Given the description of an element on the screen output the (x, y) to click on. 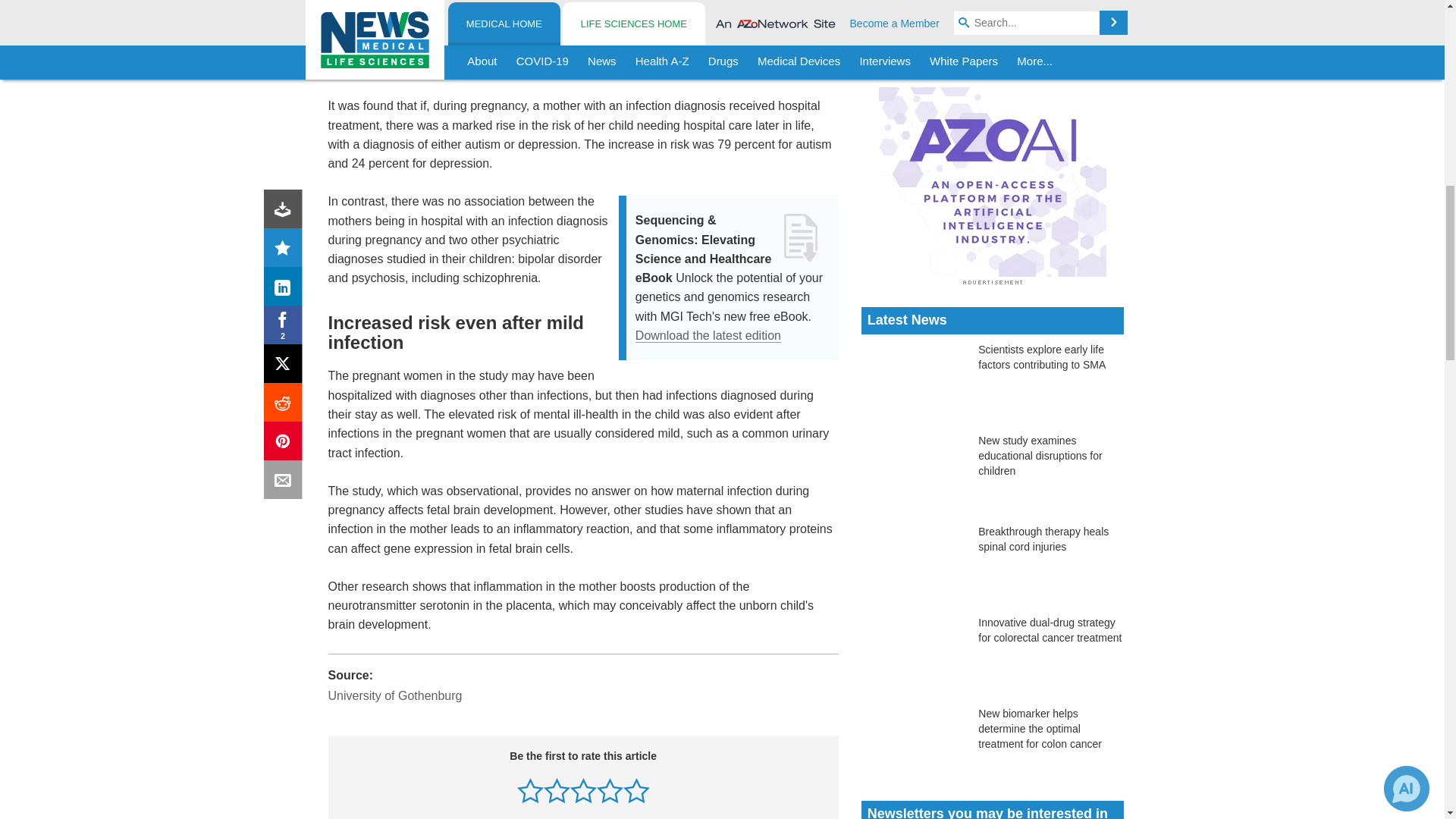
Rate this 5 stars out of 5 (636, 790)
